Given the description of an element on the screen output the (x, y) to click on. 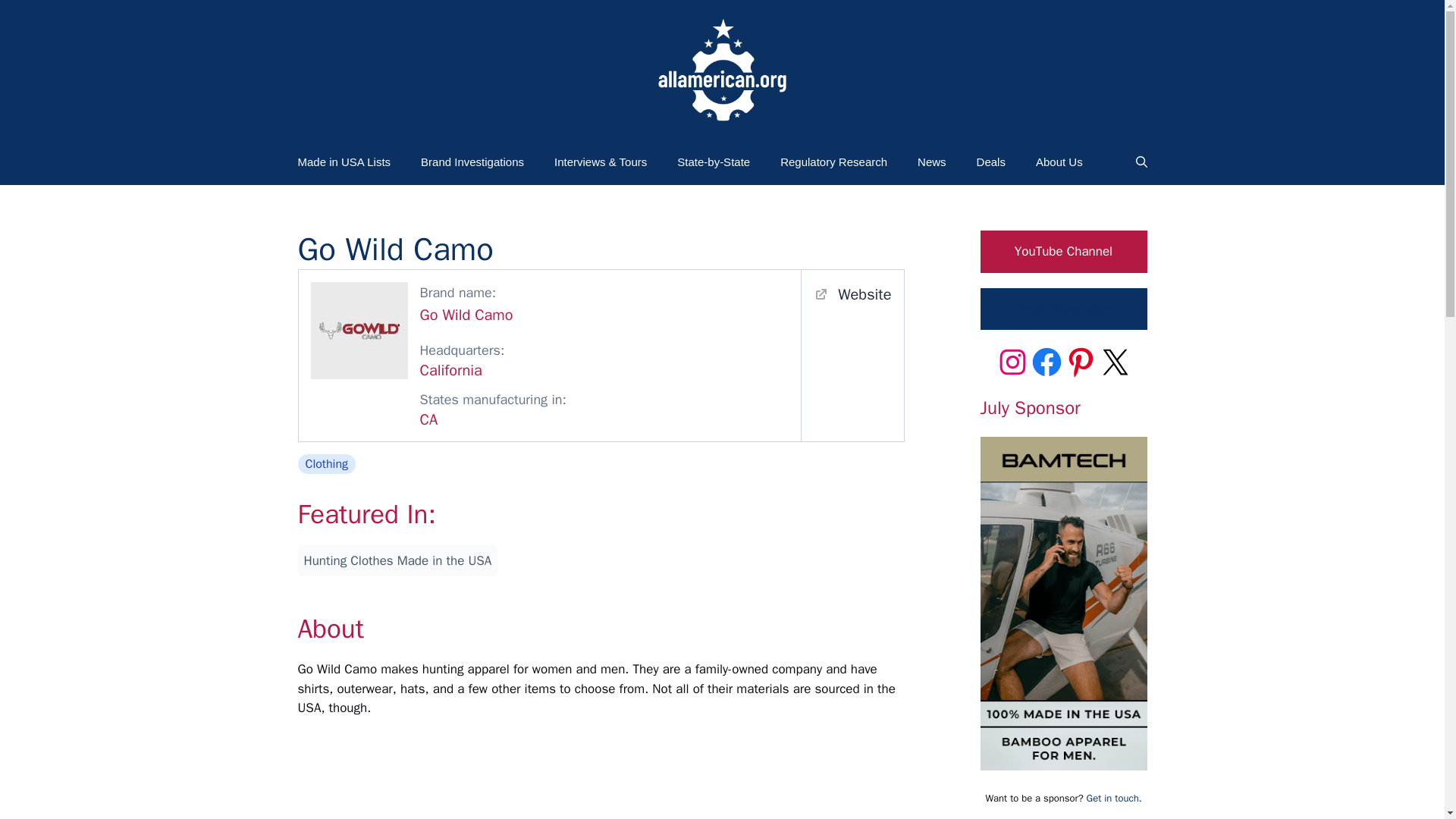
Brand Investigations (472, 162)
Website (852, 294)
Clothing (326, 464)
Facebook (1046, 361)
About Us (1058, 162)
State-by-State (713, 162)
Hunting Clothes Made in the USA (397, 561)
Regulatory Research (833, 162)
YouTube Channel (1063, 251)
Email Newsletter (1063, 308)
Made in USA Lists (344, 162)
Deals (990, 162)
X (1114, 361)
News (931, 162)
Pinterest (1079, 361)
